Given the description of an element on the screen output the (x, y) to click on. 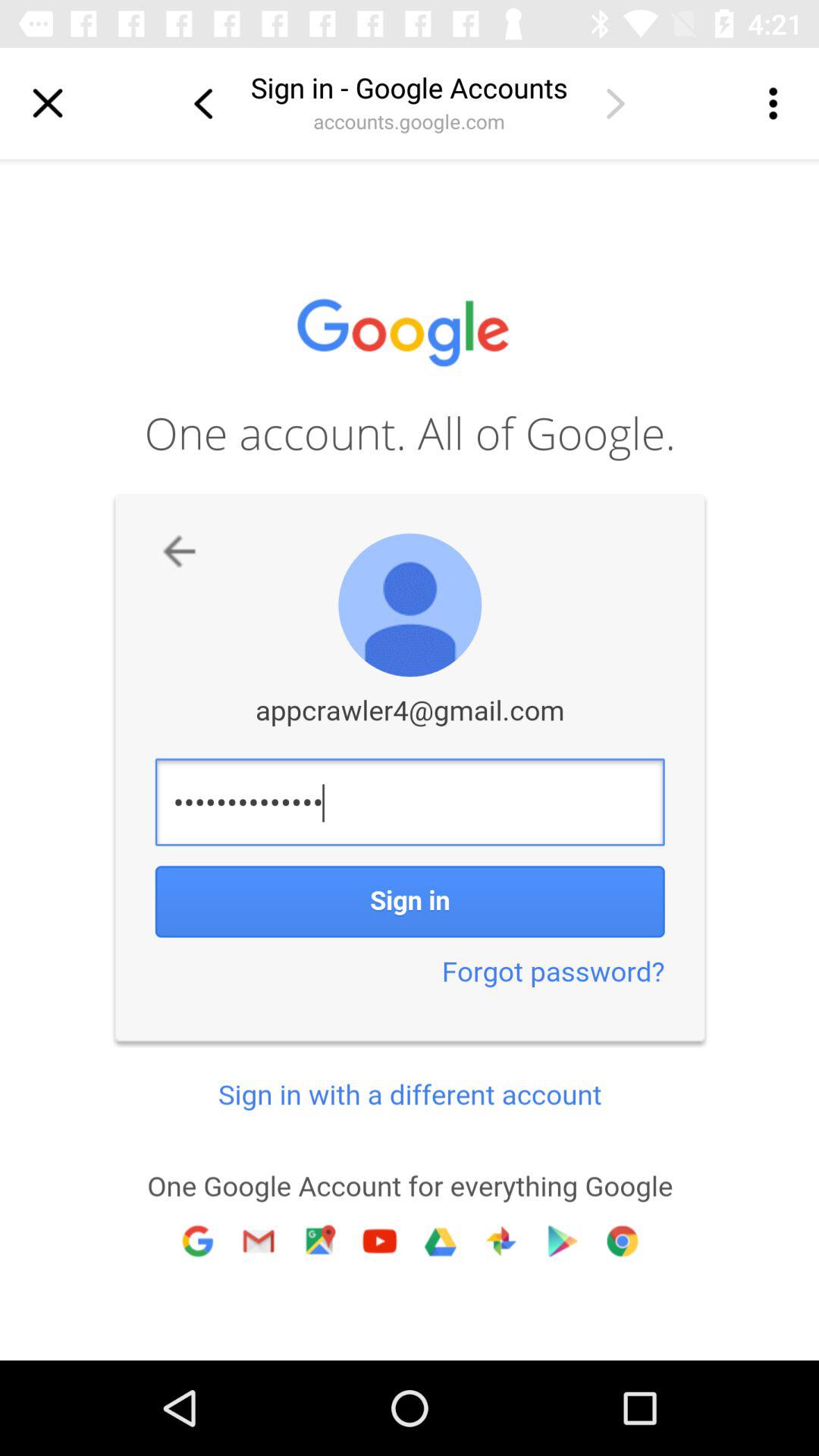
close box (47, 103)
